Given the description of an element on the screen output the (x, y) to click on. 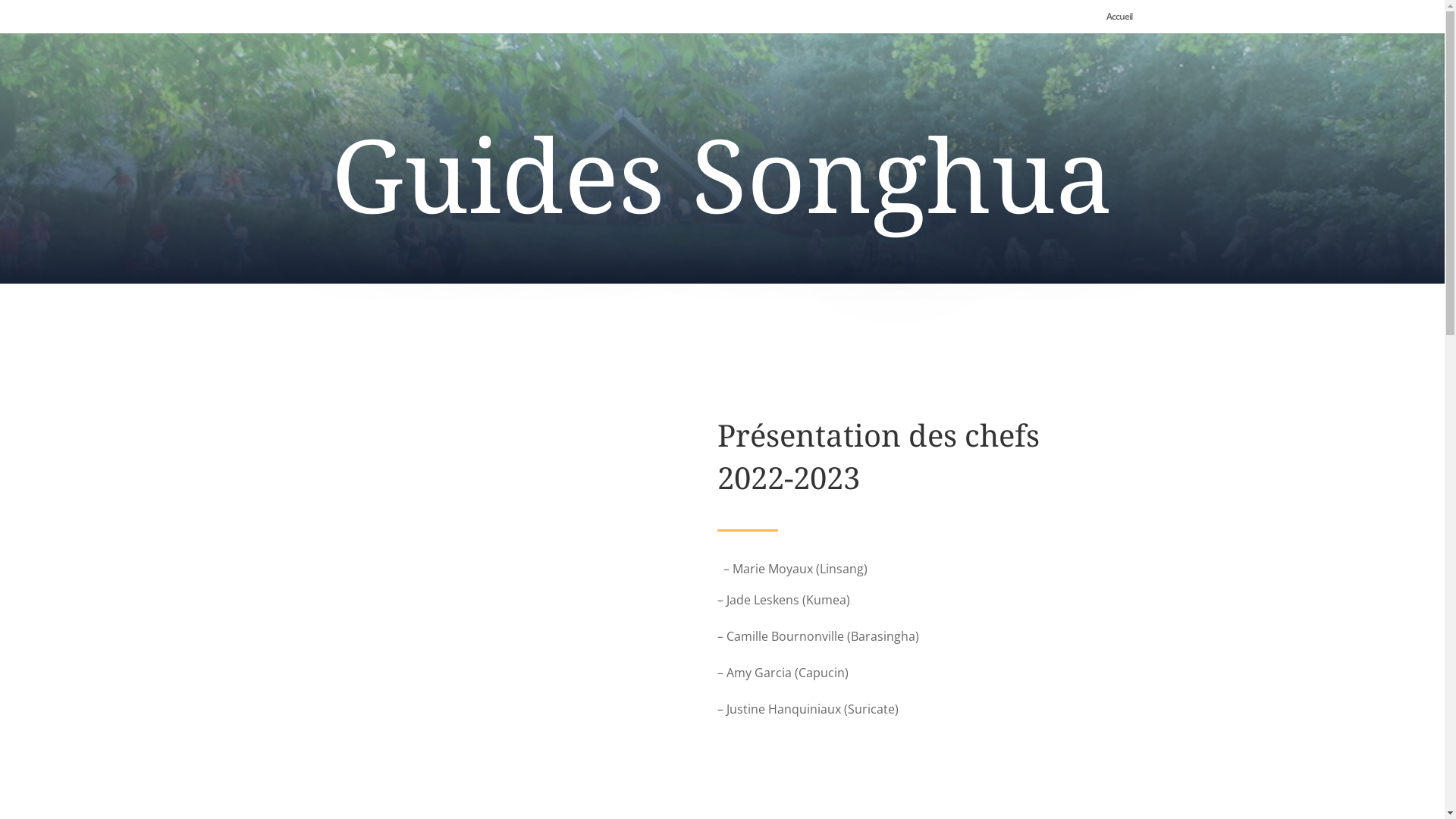
Accueil Element type: text (1118, 22)
